Given the description of an element on the screen output the (x, y) to click on. 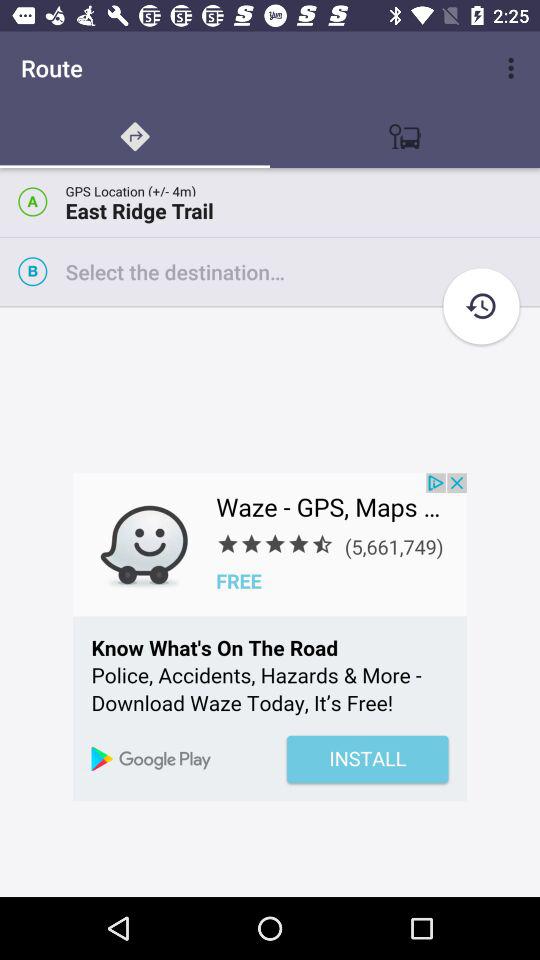
select option (302, 271)
